Given the description of an element on the screen output the (x, y) to click on. 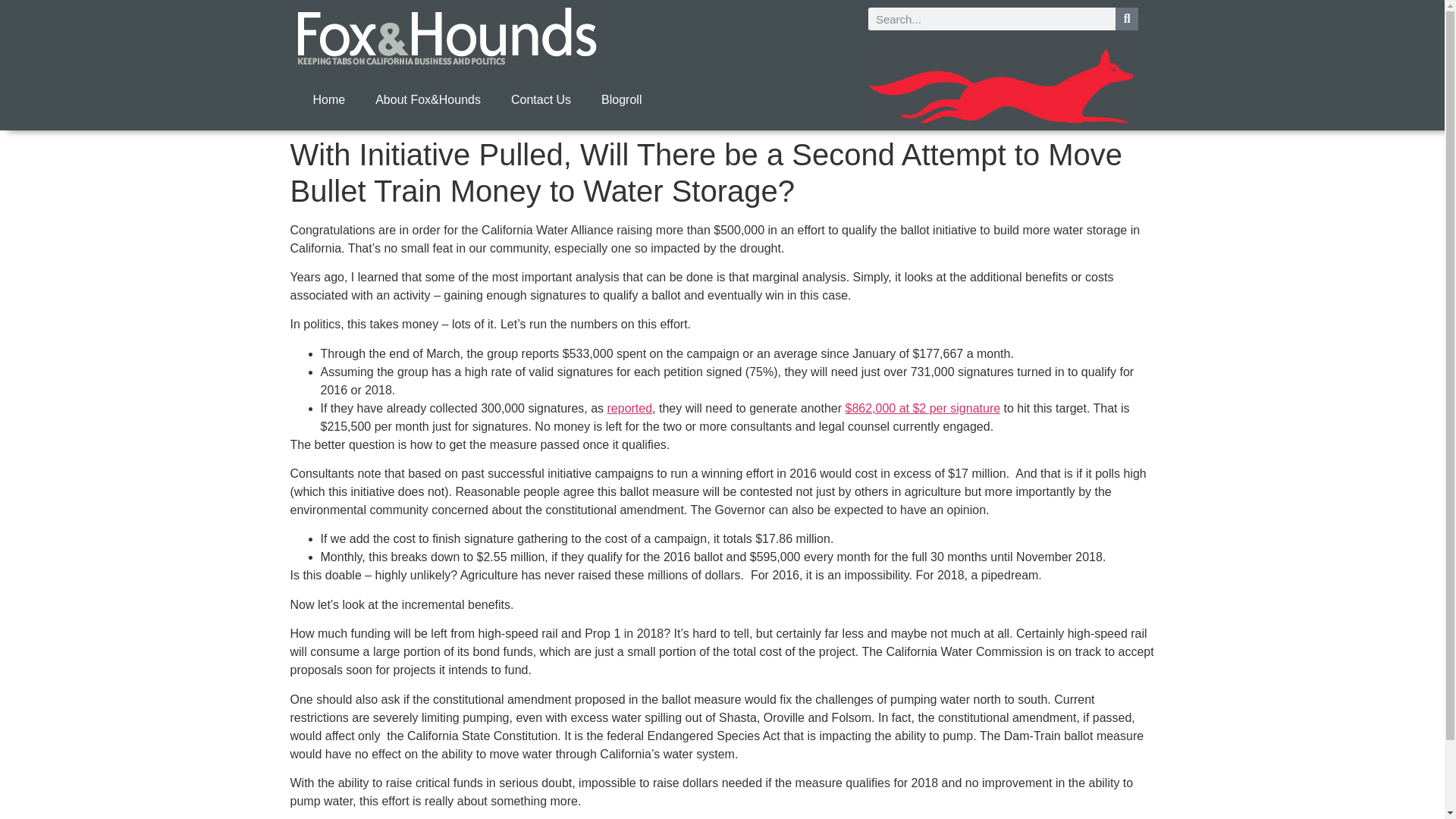
Home (328, 99)
Blogroll (621, 99)
reported (629, 408)
Contact Us (541, 99)
